Given the description of an element on the screen output the (x, y) to click on. 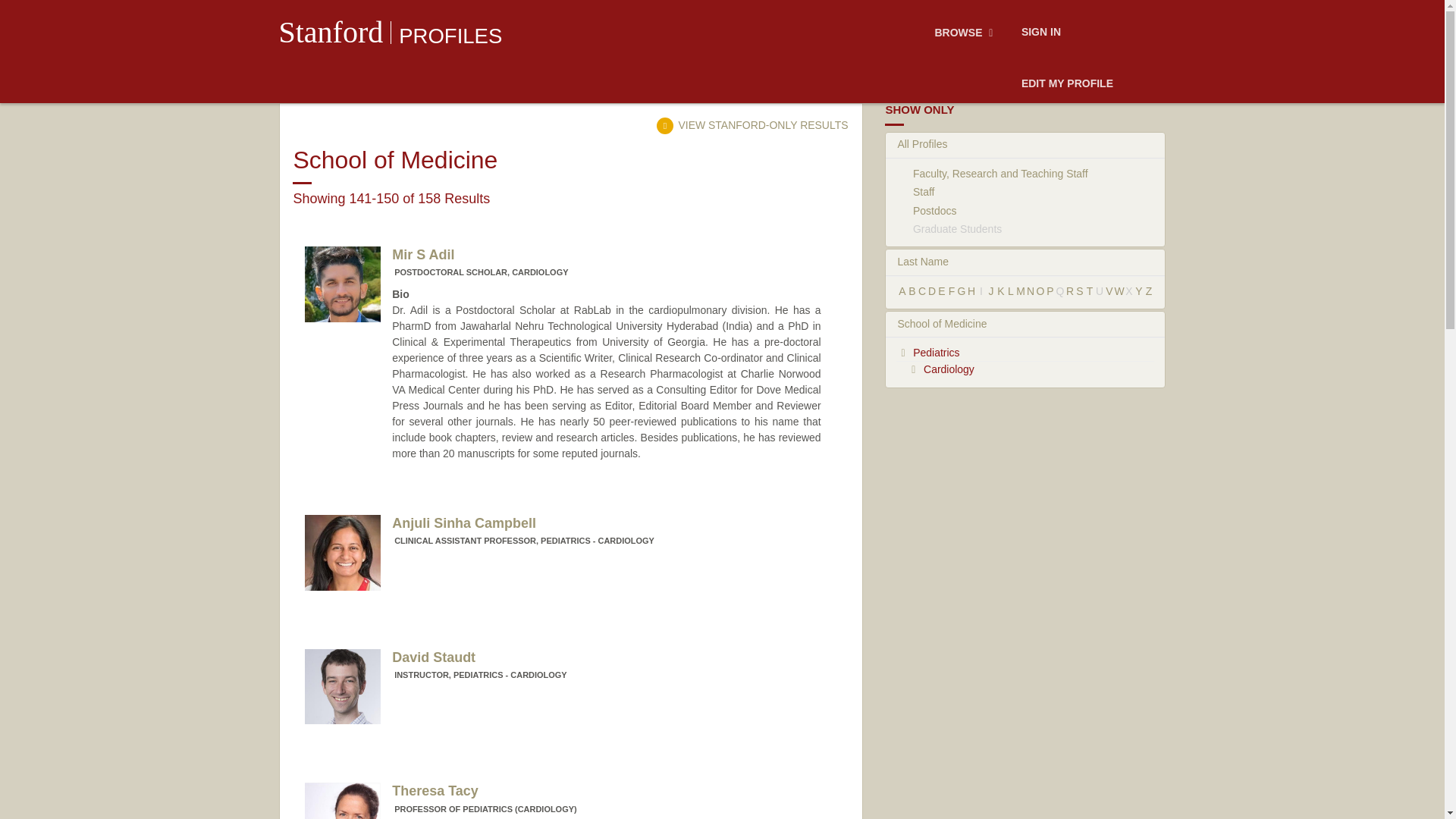
Stanford (562, 262)
VIEW STANFORD-ONLY RESULTS (331, 32)
EDIT MY PROFILE (751, 124)
PROFILES (1067, 84)
SIGN IN (450, 35)
BROWSE (1040, 32)
